Given the description of an element on the screen output the (x, y) to click on. 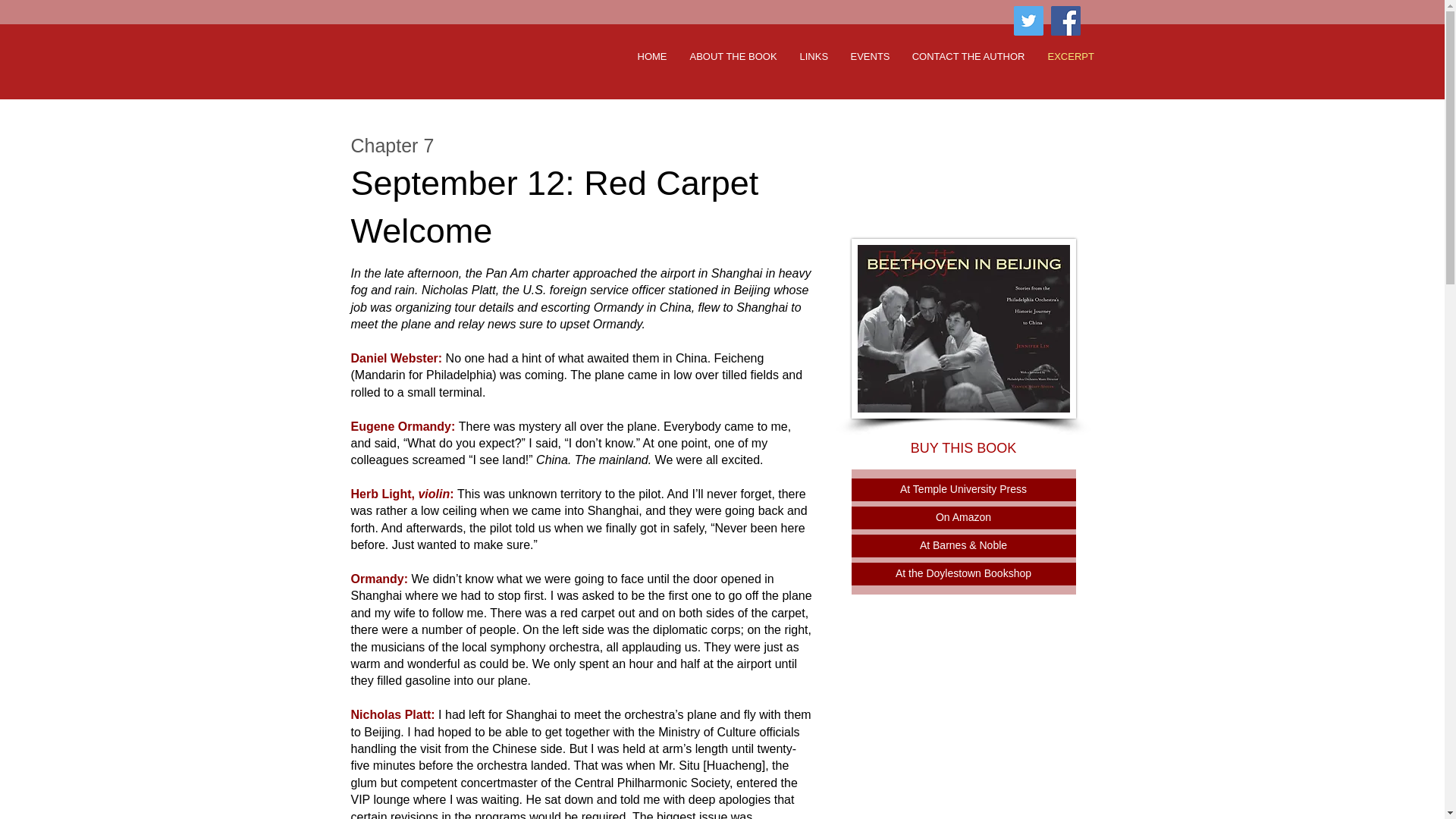
ABOUT THE BOOK (732, 56)
EVENTS (868, 56)
On Amazon (962, 517)
HOME (652, 56)
At the Doylestown Bookshop (962, 573)
EXCERPT (1068, 56)
At Temple University Press (962, 489)
LINKS (814, 56)
CONTACT THE AUTHOR (968, 56)
